Given the description of an element on the screen output the (x, y) to click on. 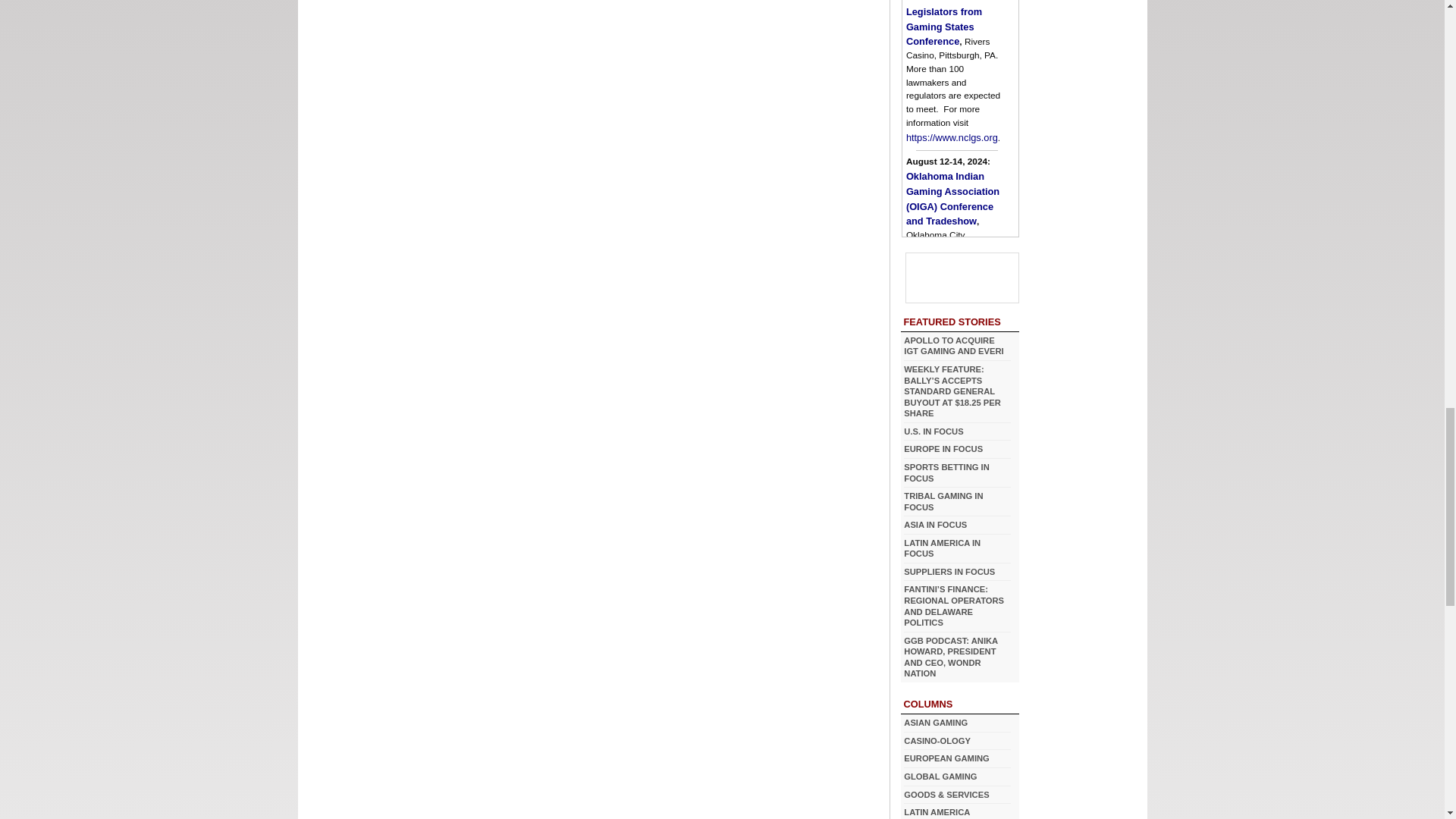
The Racing and Gaming Conference at Saratoga (951, 357)
The Racing and Gaming Conference at Saratoga (972, 441)
austgamingexpo.com (954, 488)
National Council of Legislators from Gaming States (951, 137)
National Council of Legislators from Gaming States (949, 23)
